Given the description of an element on the screen output the (x, y) to click on. 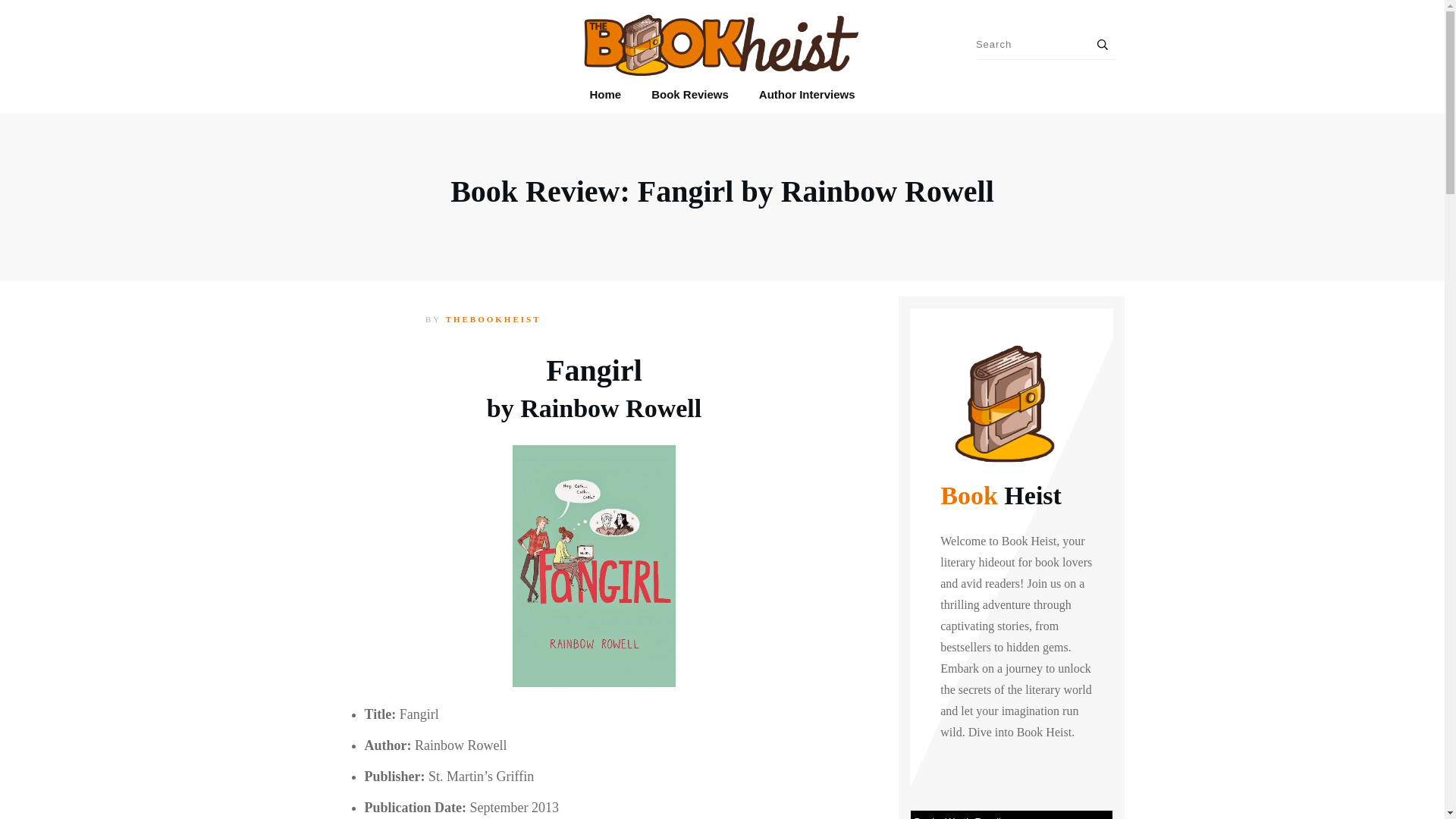
Author Interviews (807, 94)
Book Review: Fangirl by Rainbow Rowell (721, 191)
THEBOOKHEIST (493, 318)
Book Reviews (689, 94)
Home (605, 94)
Book Review: Fangirl by Rainbow Rowell (721, 191)
